Given the description of an element on the screen output the (x, y) to click on. 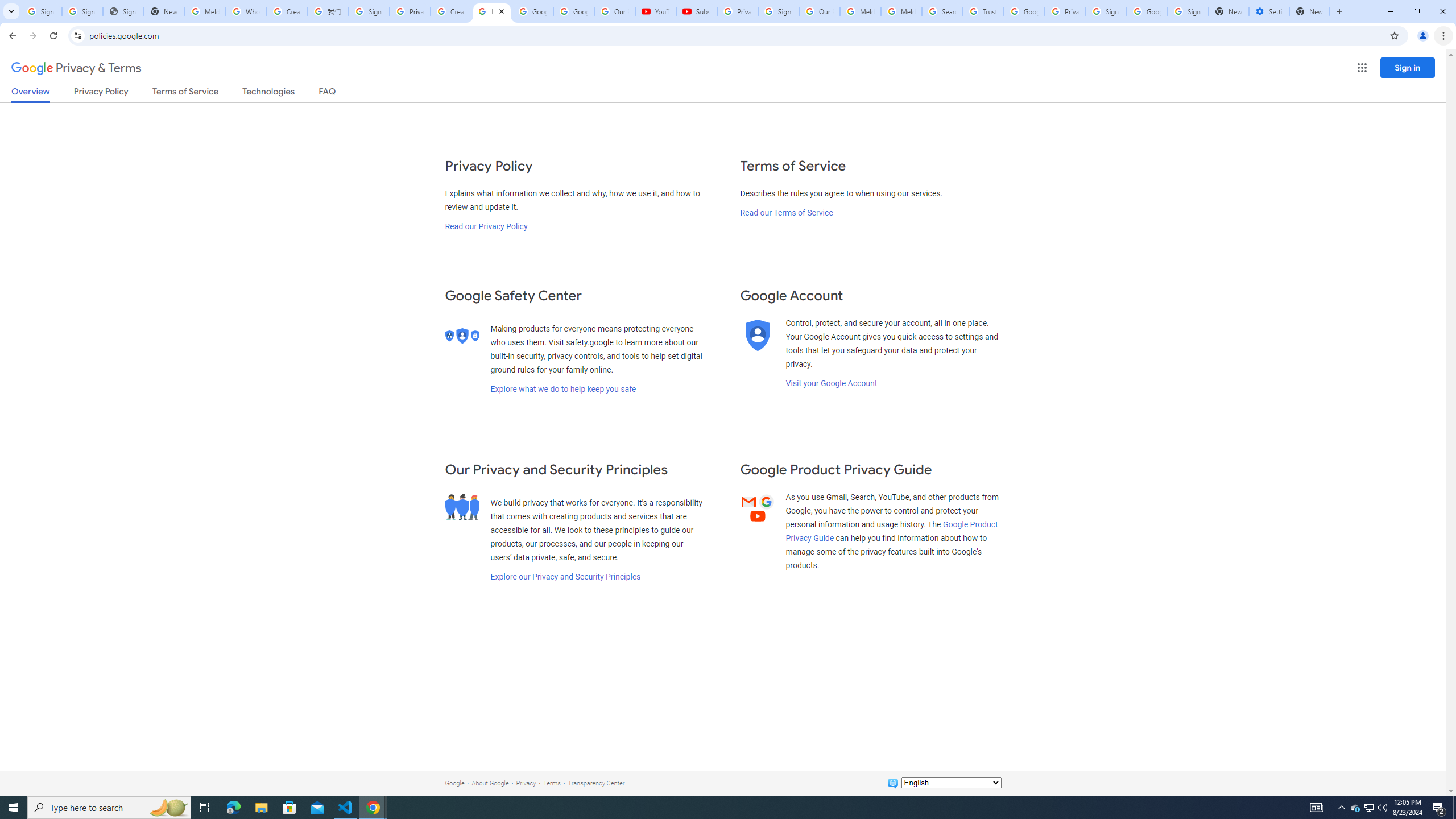
Create your Google Account (450, 11)
Transparency Center (595, 783)
Sign In - USA TODAY (122, 11)
Create your Google Account (287, 11)
Google Cybersecurity Innovations - Google Safety Center (1146, 11)
YouTube (655, 11)
Google Account (573, 11)
Sign in - Google Accounts (368, 11)
